Given the description of an element on the screen output the (x, y) to click on. 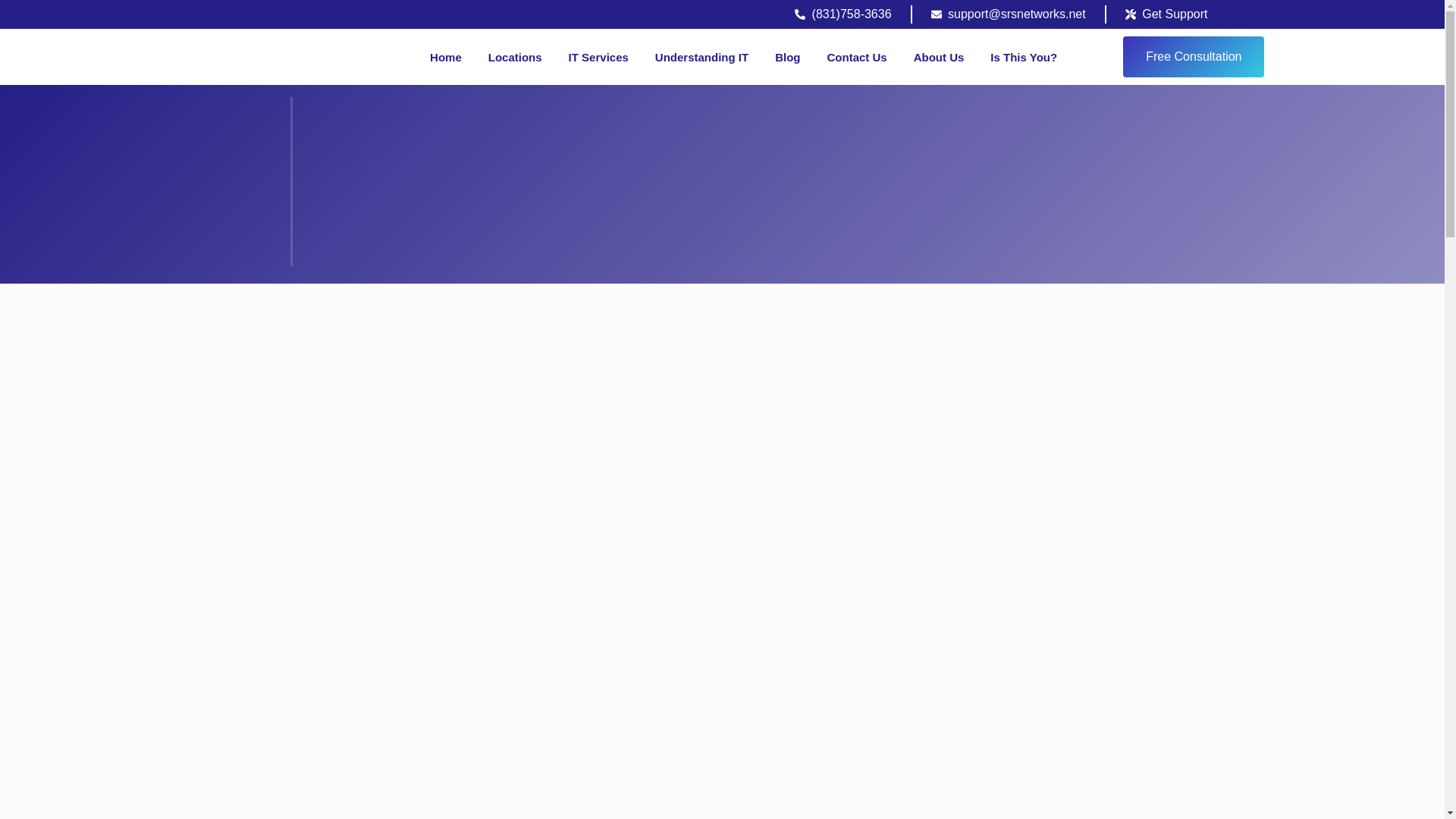
logo (263, 57)
IT Services (598, 56)
Get Support (1166, 13)
Locations (514, 56)
